Given the description of an element on the screen output the (x, y) to click on. 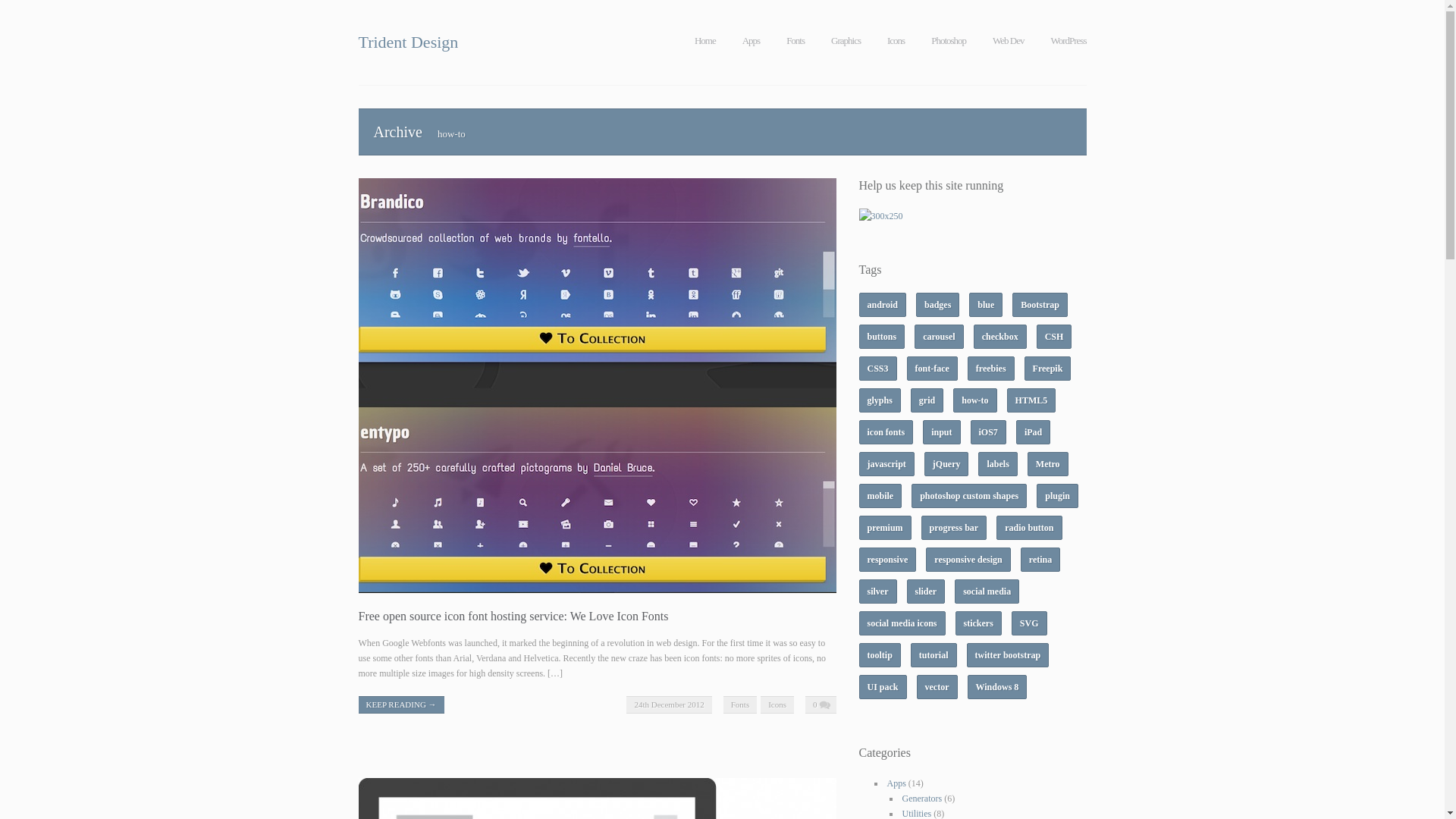
Fonts (795, 40)
Icons (776, 704)
WordPress (1067, 40)
Photoshop (948, 40)
Graphics (845, 40)
Fonts (740, 704)
24th December 2012 (668, 704)
Web Dev (1007, 40)
0 (820, 704)
